Given the description of an element on the screen output the (x, y) to click on. 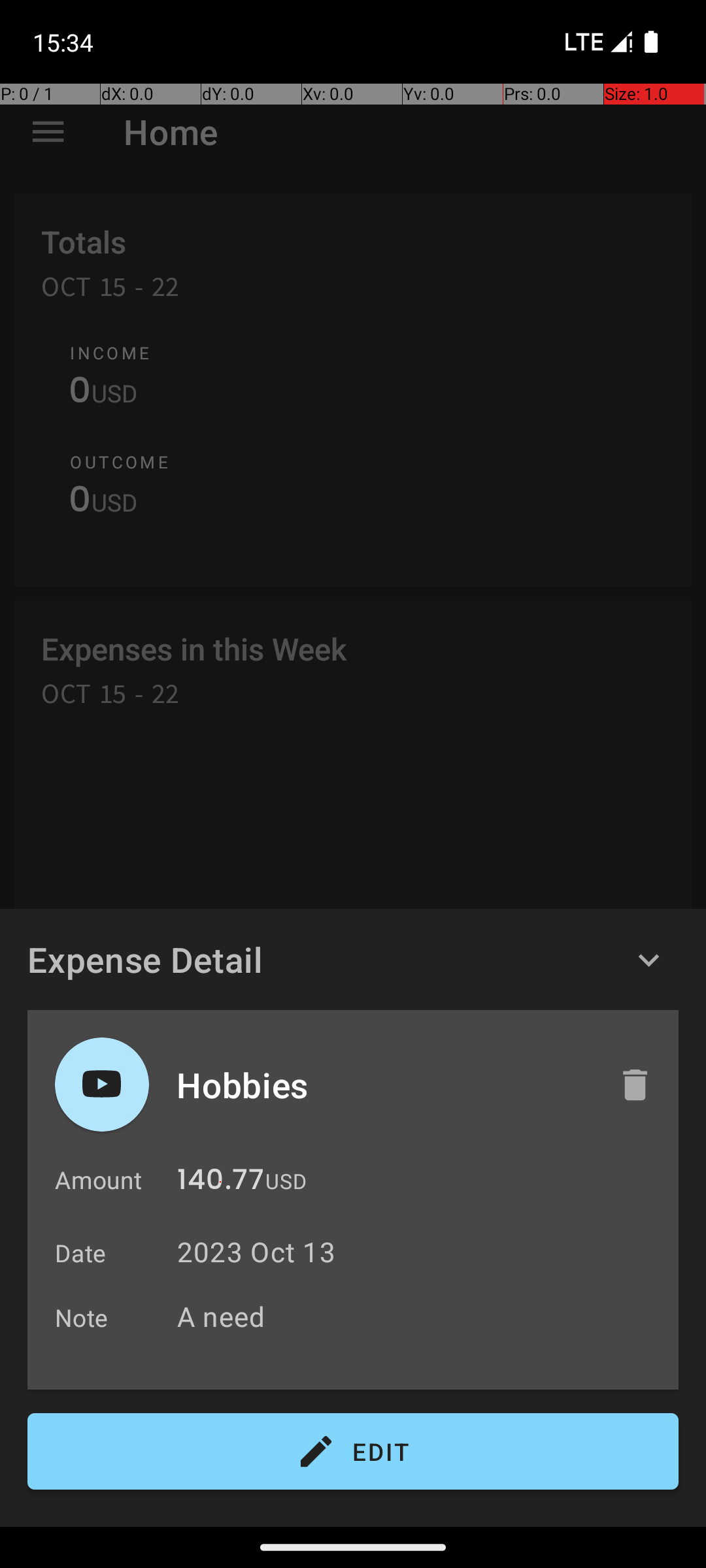
Hobbies Element type: android.widget.TextView (383, 1084)
140.77 Element type: android.widget.TextView (220, 1182)
A need Element type: android.widget.TextView (420, 1315)
